Given the description of an element on the screen output the (x, y) to click on. 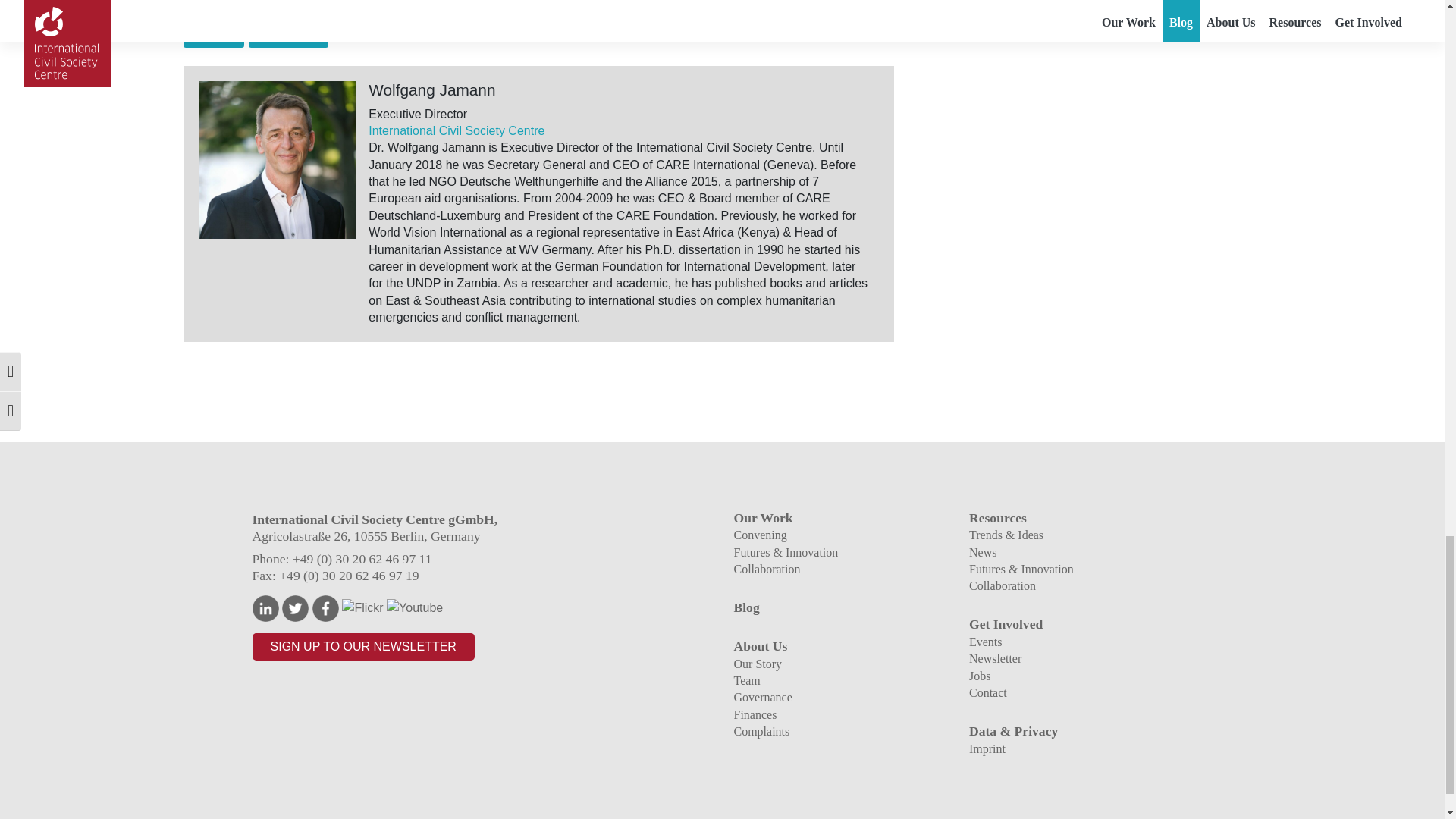
Disinformation (288, 36)
COVID-19 (213, 36)
International Civil Society Centre (456, 130)
